Given the description of an element on the screen output the (x, y) to click on. 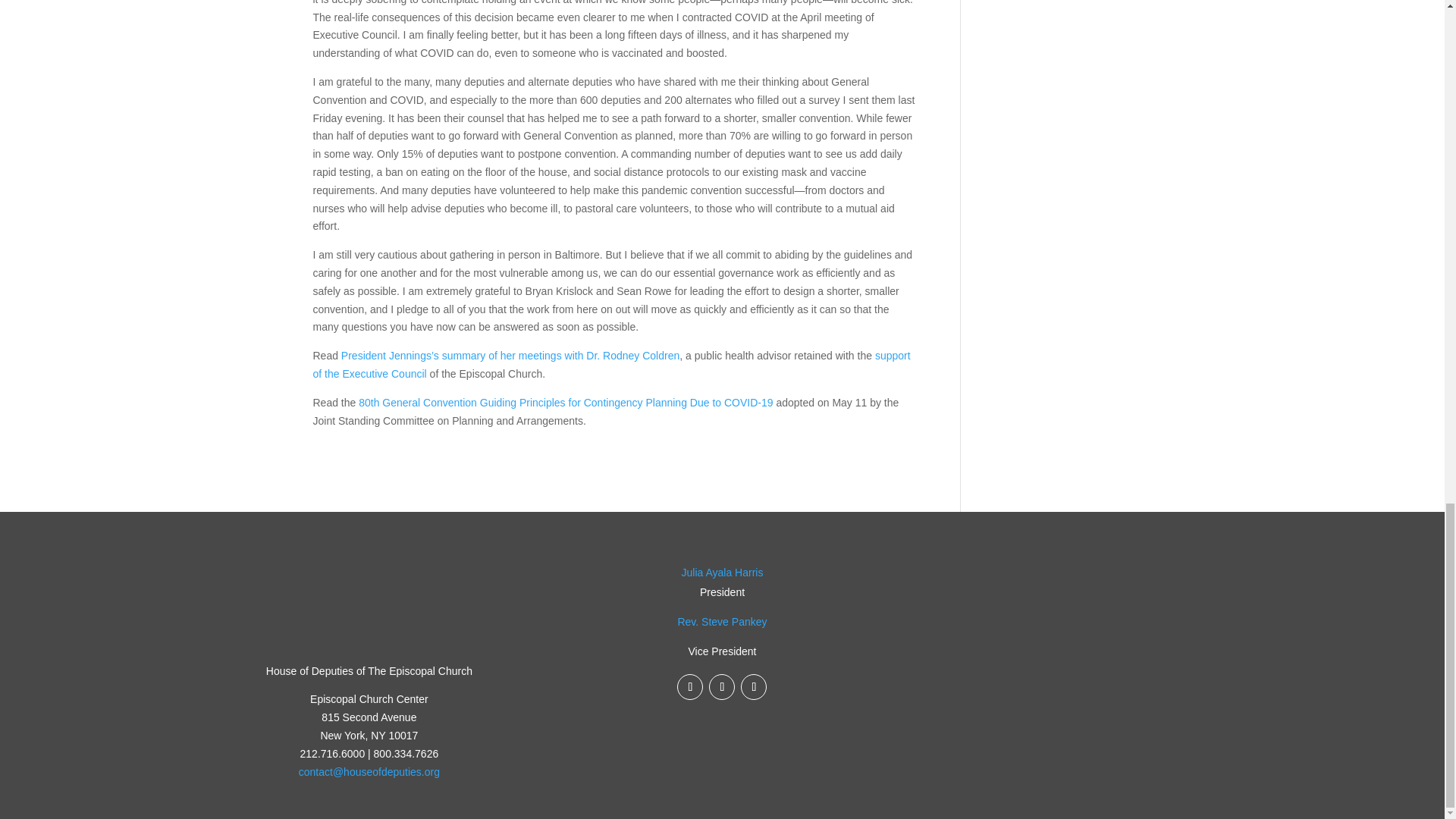
President of the House of Deputies (721, 572)
support of the Executive Council (611, 364)
Follow on TikTok (754, 687)
Vice President of the House of Deputies (722, 621)
Follow on Instagram (722, 687)
Follow on Facebook (690, 687)
